Given the description of an element on the screen output the (x, y) to click on. 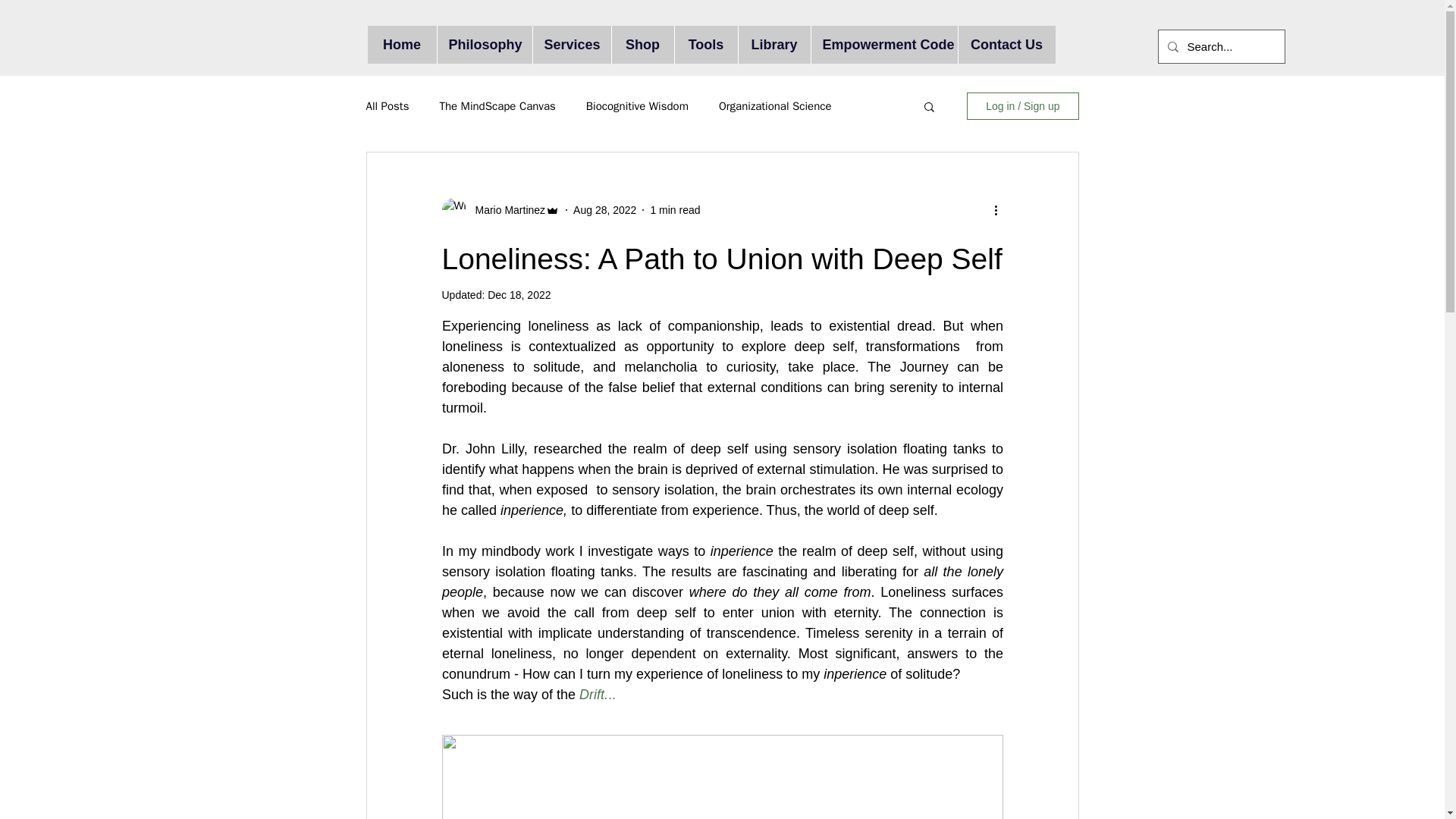
Contact Us (1005, 44)
Tools (704, 44)
Home (400, 44)
Empowerment Code (882, 44)
Dec 18, 2022 (518, 295)
The MindScape Canvas (496, 105)
Aug 28, 2022 (604, 209)
Services (571, 44)
Drift. (593, 694)
Mario Martinez (504, 209)
Library (772, 44)
1 min read (674, 209)
Ecology of Deep Self (722, 776)
Shop (642, 44)
Mario Martinez (500, 209)
